Given the description of an element on the screen output the (x, y) to click on. 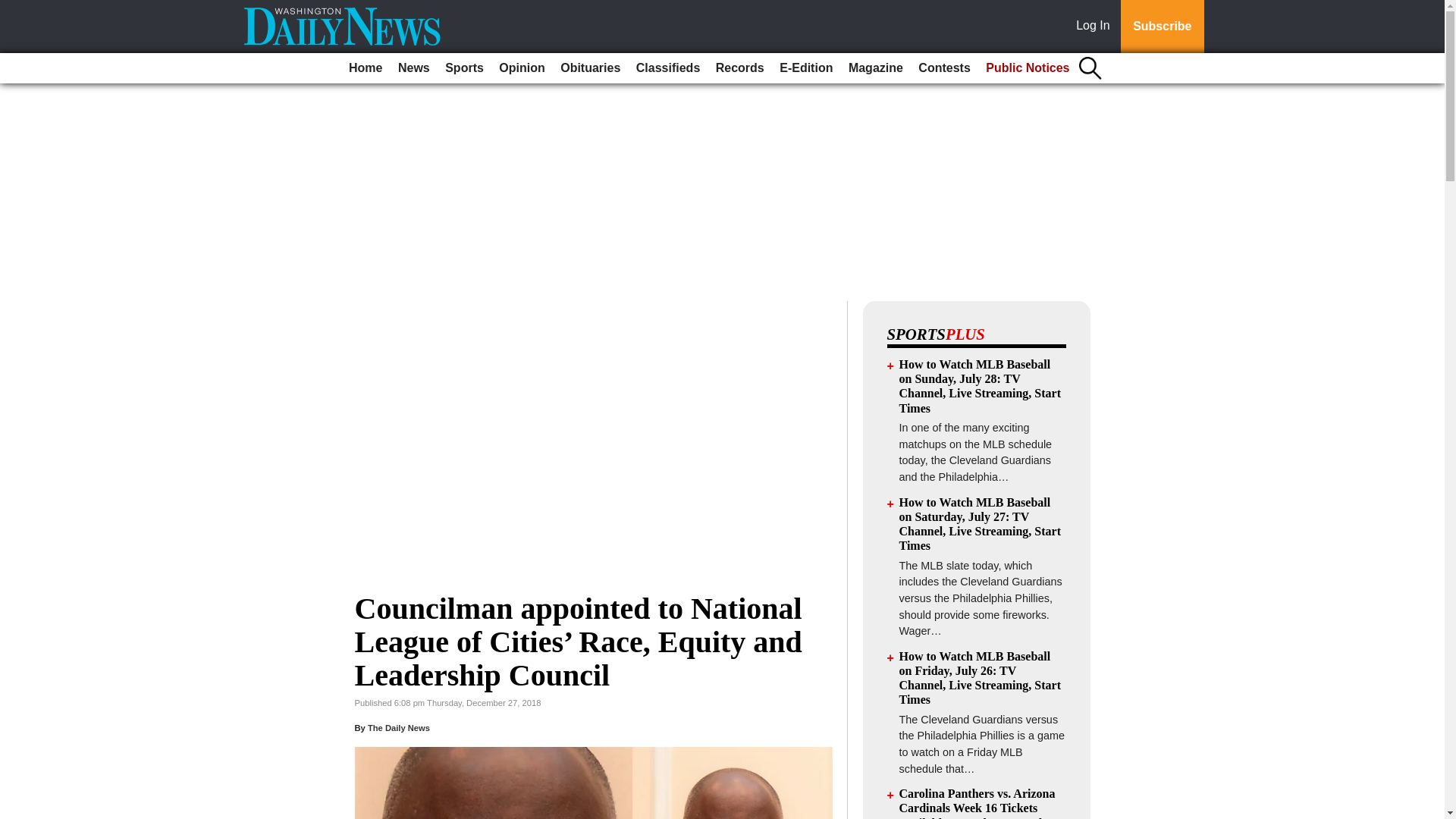
Home (365, 68)
Sports (464, 68)
Magazine (875, 68)
Records (740, 68)
Go (13, 9)
Log In (1095, 26)
Classifieds (668, 68)
Obituaries (590, 68)
Subscribe (1162, 26)
E-Edition (805, 68)
Public Notices (1027, 68)
The Daily News (398, 727)
News (413, 68)
